Given the description of an element on the screen output the (x, y) to click on. 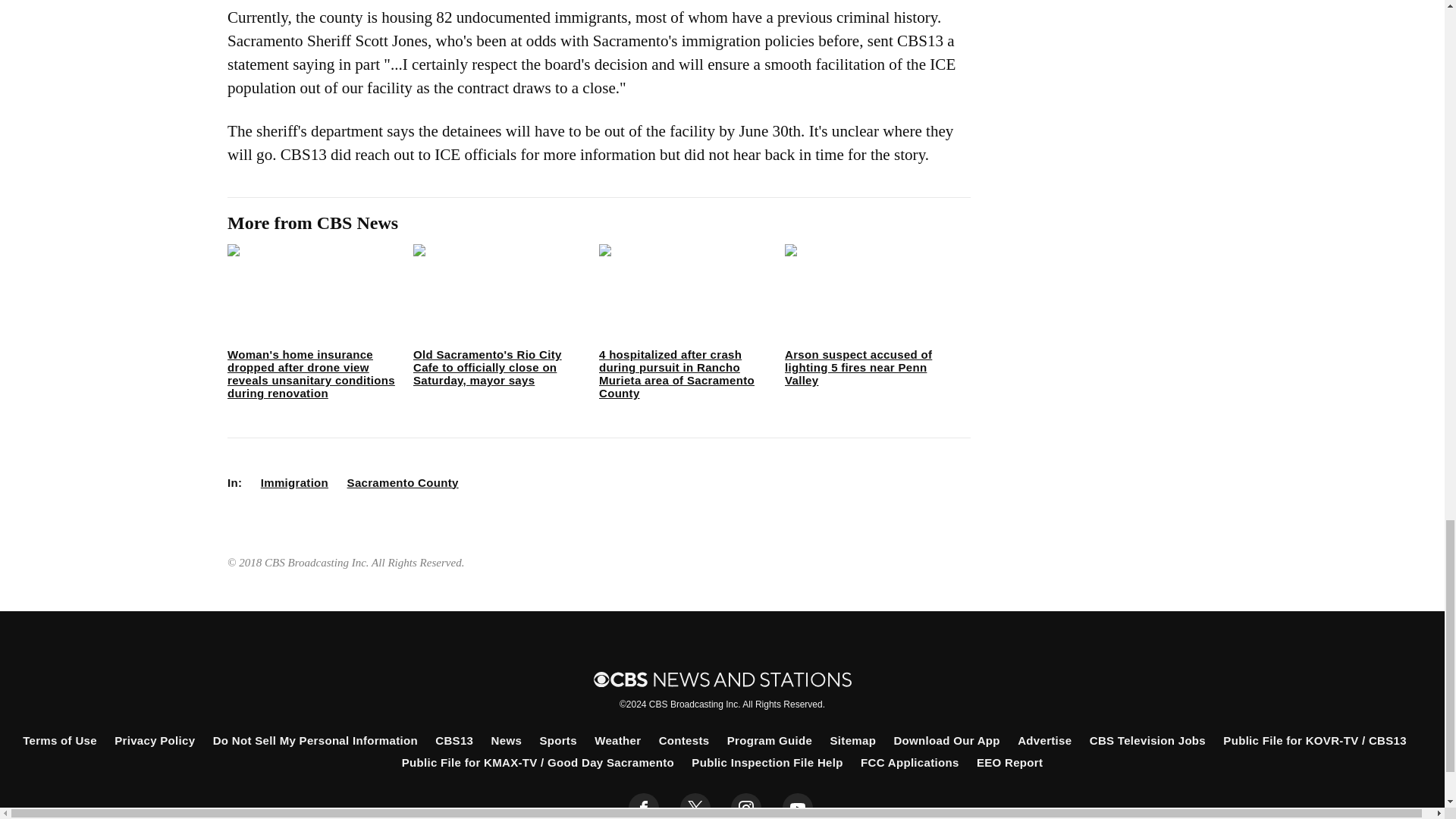
twitter (694, 806)
youtube (797, 806)
facebook (643, 806)
instagram (745, 806)
